Given the description of an element on the screen output the (x, y) to click on. 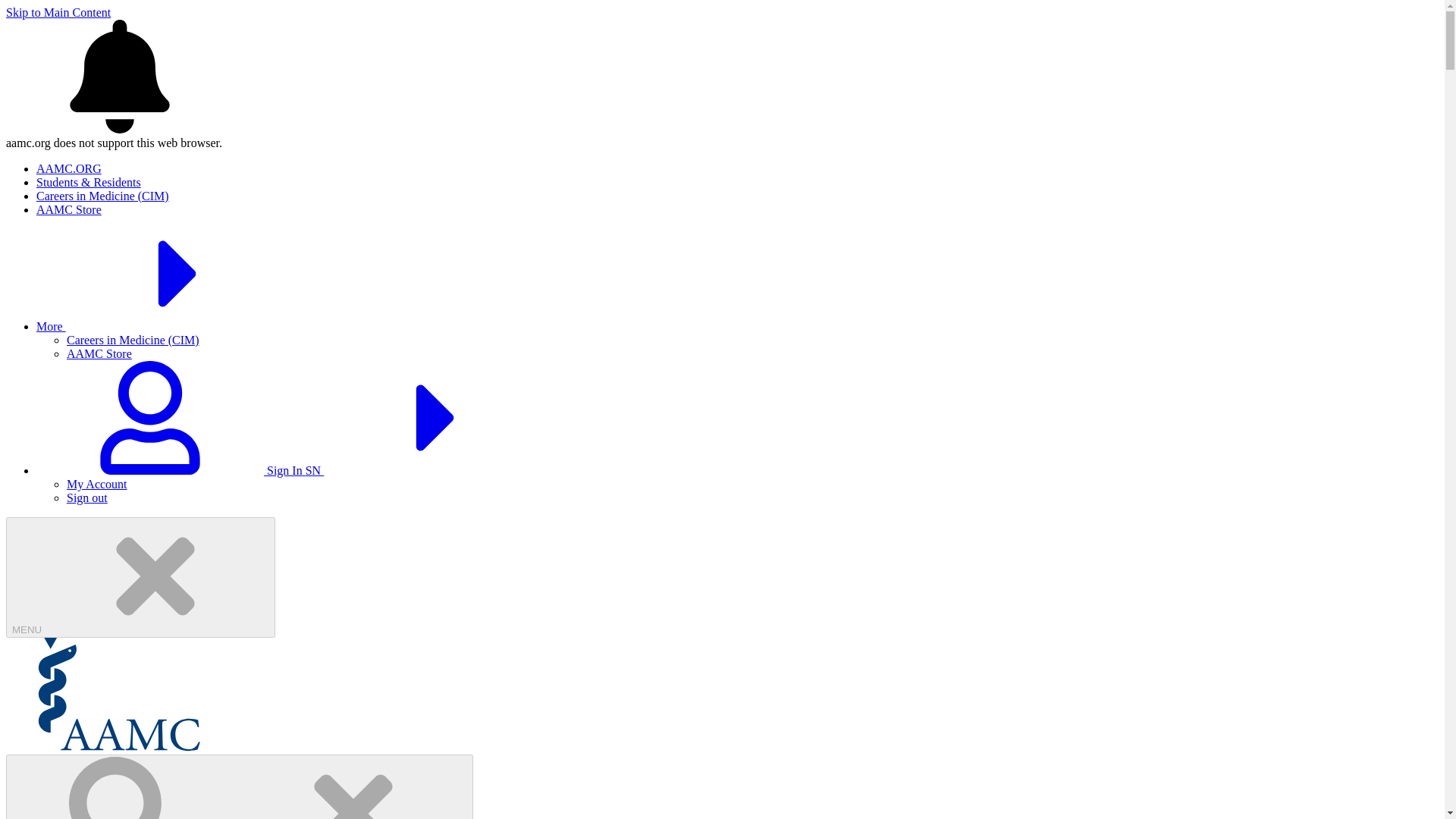
AAMC Store (68, 209)
MENU (140, 577)
AAMC (118, 747)
Sign out (86, 497)
My Account (97, 483)
Sign In SN (293, 470)
AAMC.ORG (68, 168)
AAMC Store (99, 353)
More (165, 326)
Skip to Main Content (57, 11)
